Given the description of an element on the screen output the (x, y) to click on. 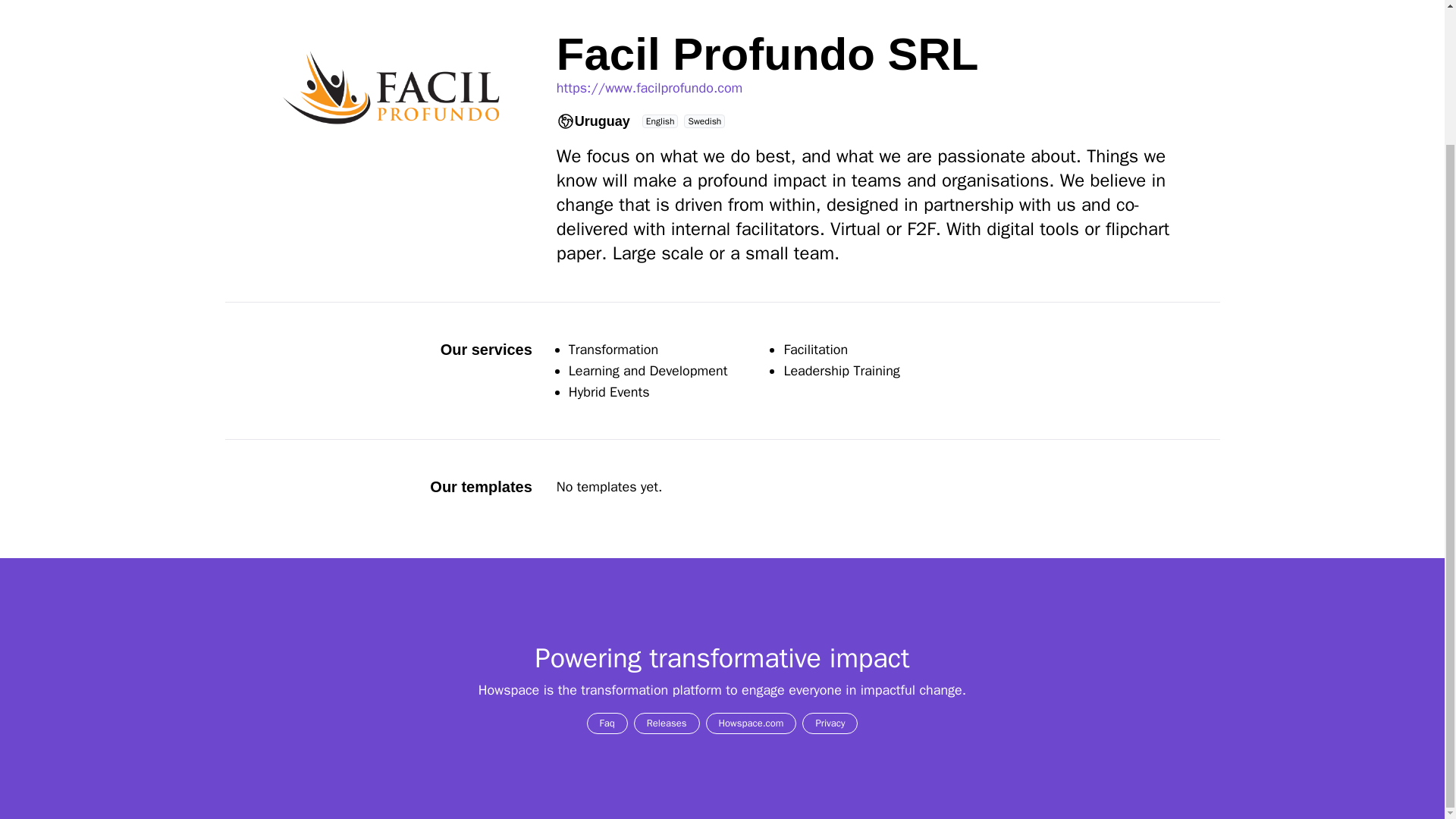
Privacy (829, 722)
Howspace.com (751, 722)
transformation platform (650, 689)
Releases (666, 722)
Faq (606, 722)
